Given the description of an element on the screen output the (x, y) to click on. 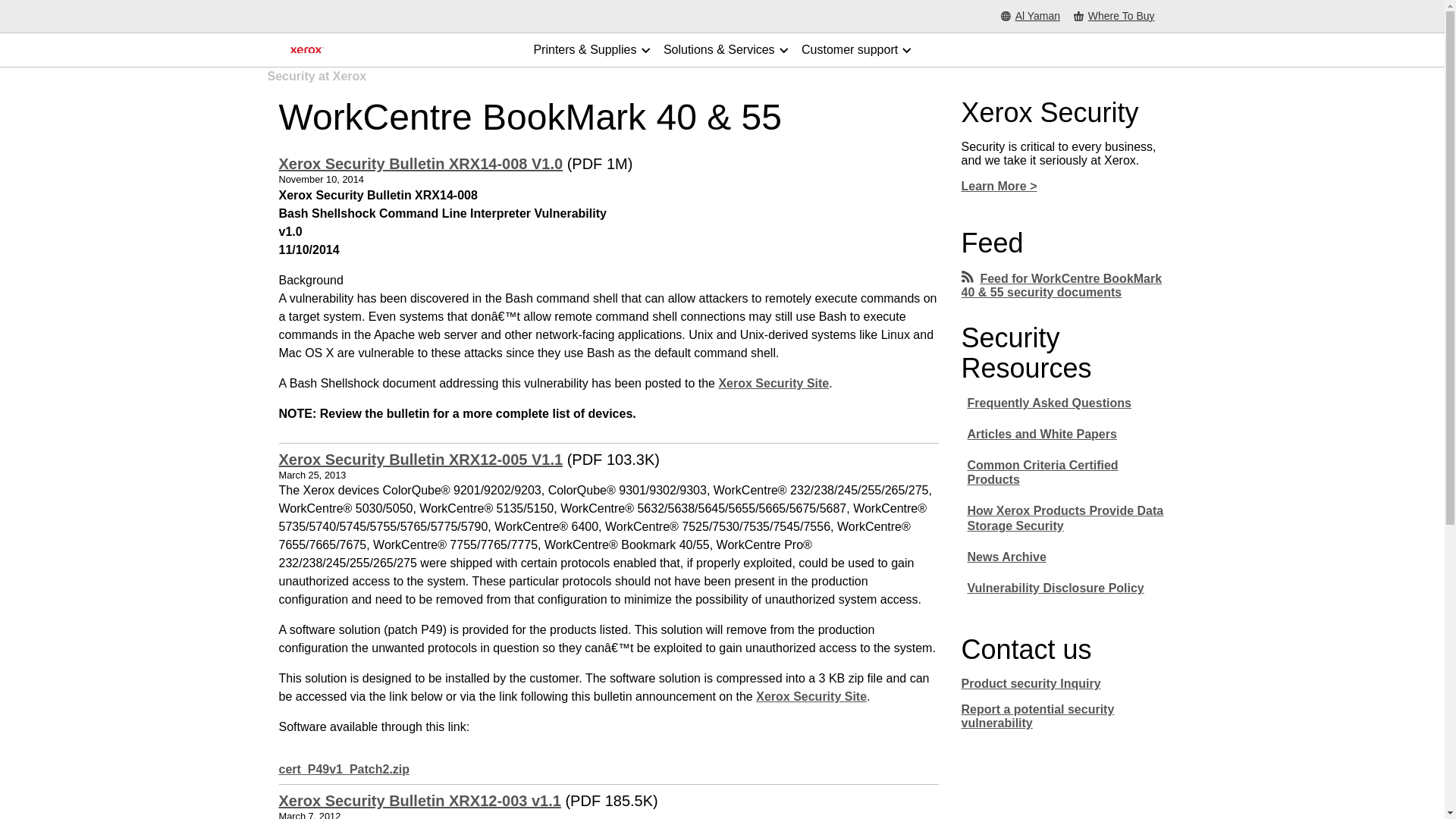
Security at Xerox (772, 382)
Where To Buy (1114, 16)
Syndicate this site using RSS 2.0 (967, 278)
Al Yaman (1030, 16)
Security at Xerox (810, 696)
Syndicate this site using RSS 2.0 (1060, 284)
